Given the description of an element on the screen output the (x, y) to click on. 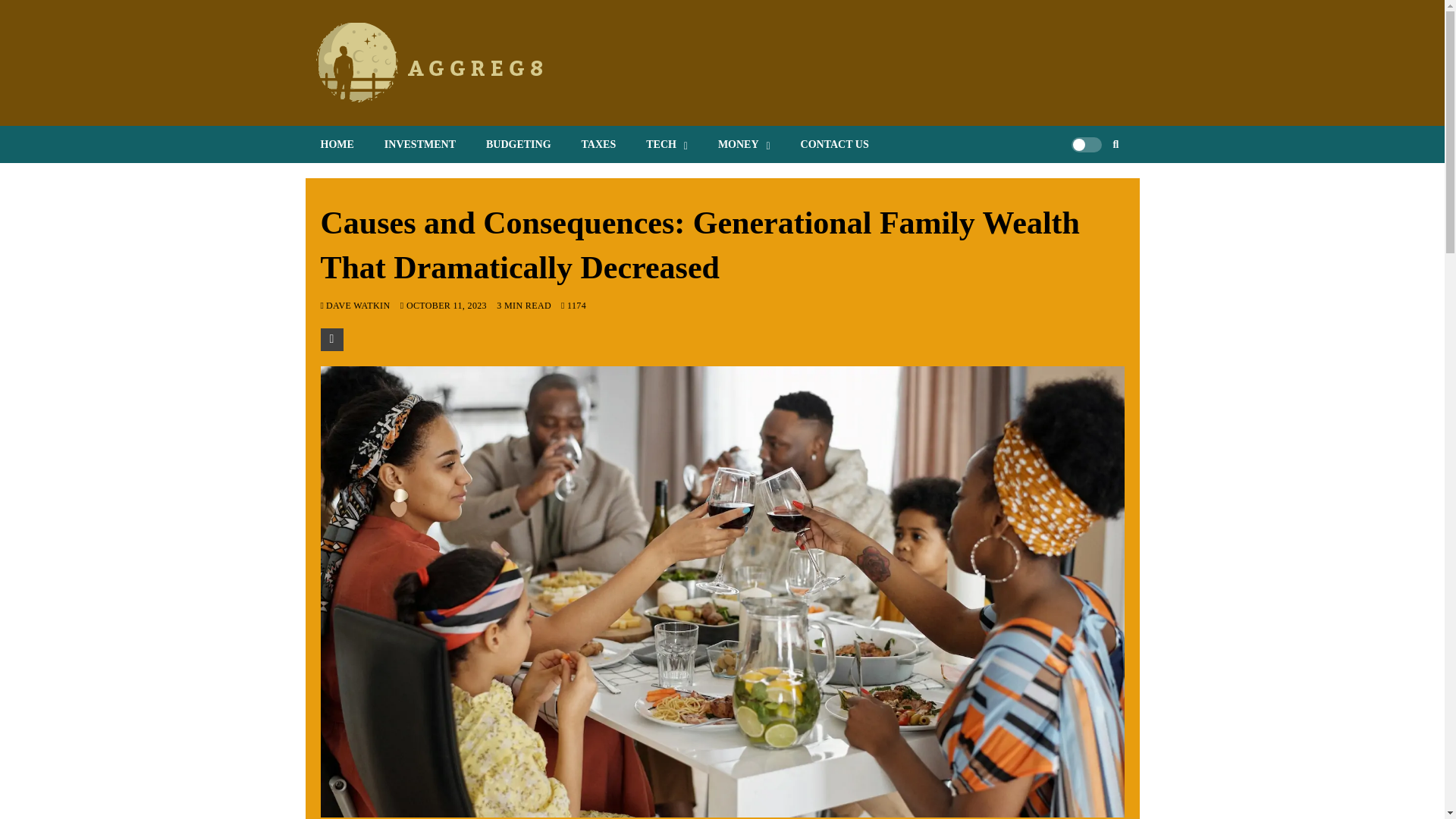
DAVE WATKIN (359, 305)
1174 (573, 305)
BUDGETING (518, 144)
MONEY (744, 144)
INVESTMENT (419, 144)
CONTACT US (834, 144)
TAXES (598, 144)
Search (1092, 190)
TECH (666, 144)
HOME (336, 144)
